Given the description of an element on the screen output the (x, y) to click on. 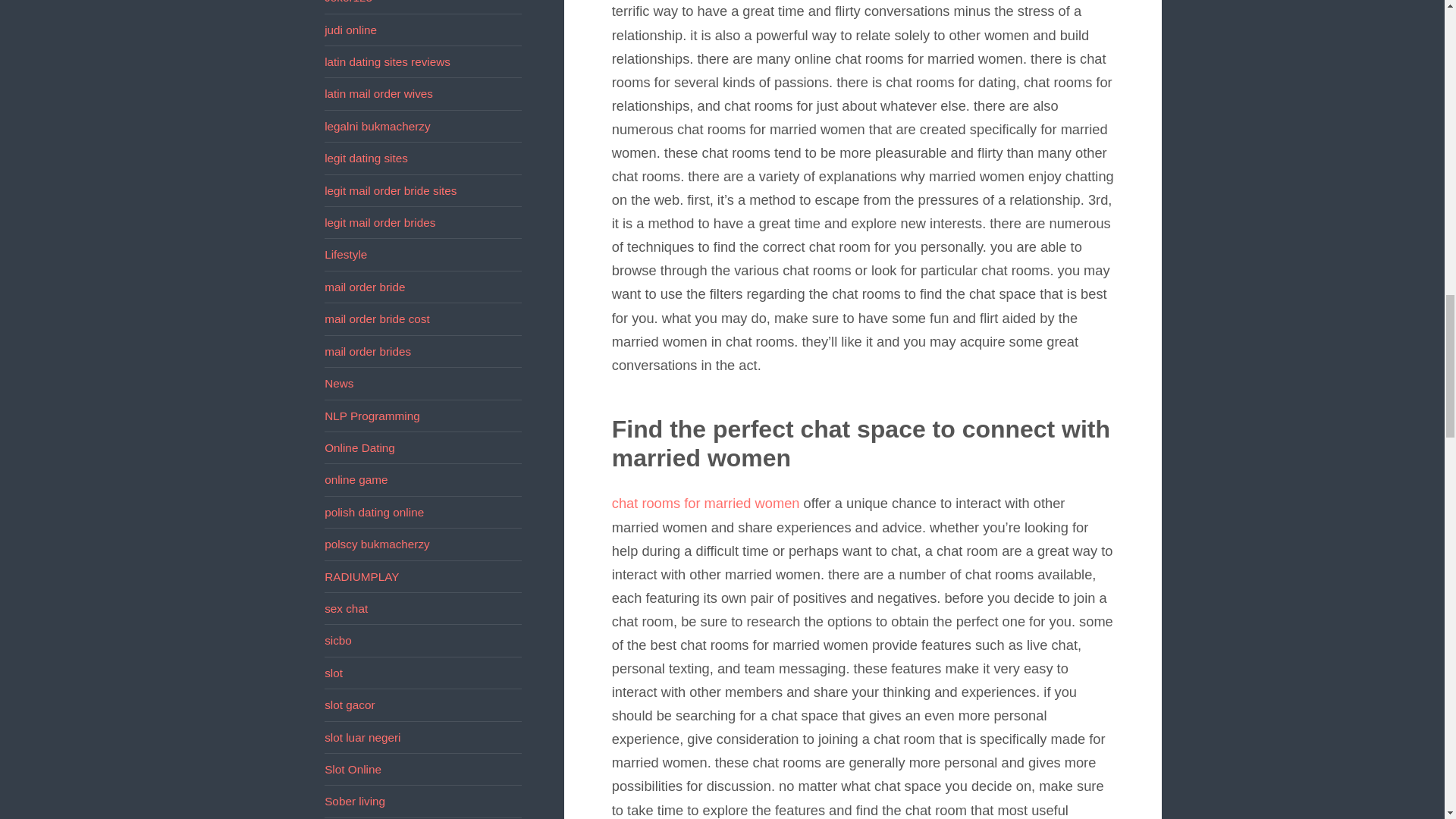
Joker123 (348, 2)
judi online (350, 29)
latin dating sites reviews (386, 61)
